Given the description of an element on the screen output the (x, y) to click on. 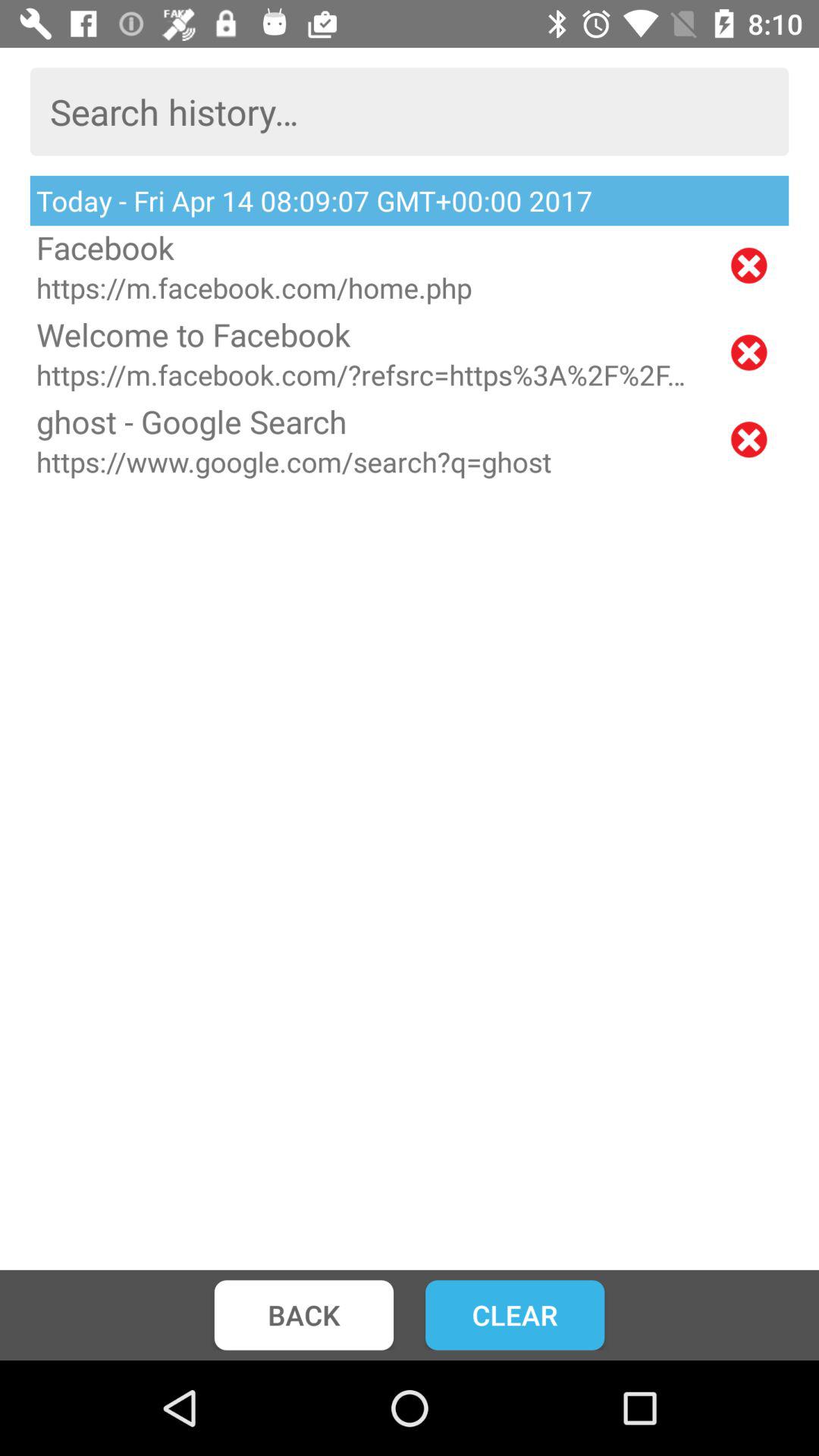
launch the item below https m facebook item (369, 334)
